Given the description of an element on the screen output the (x, y) to click on. 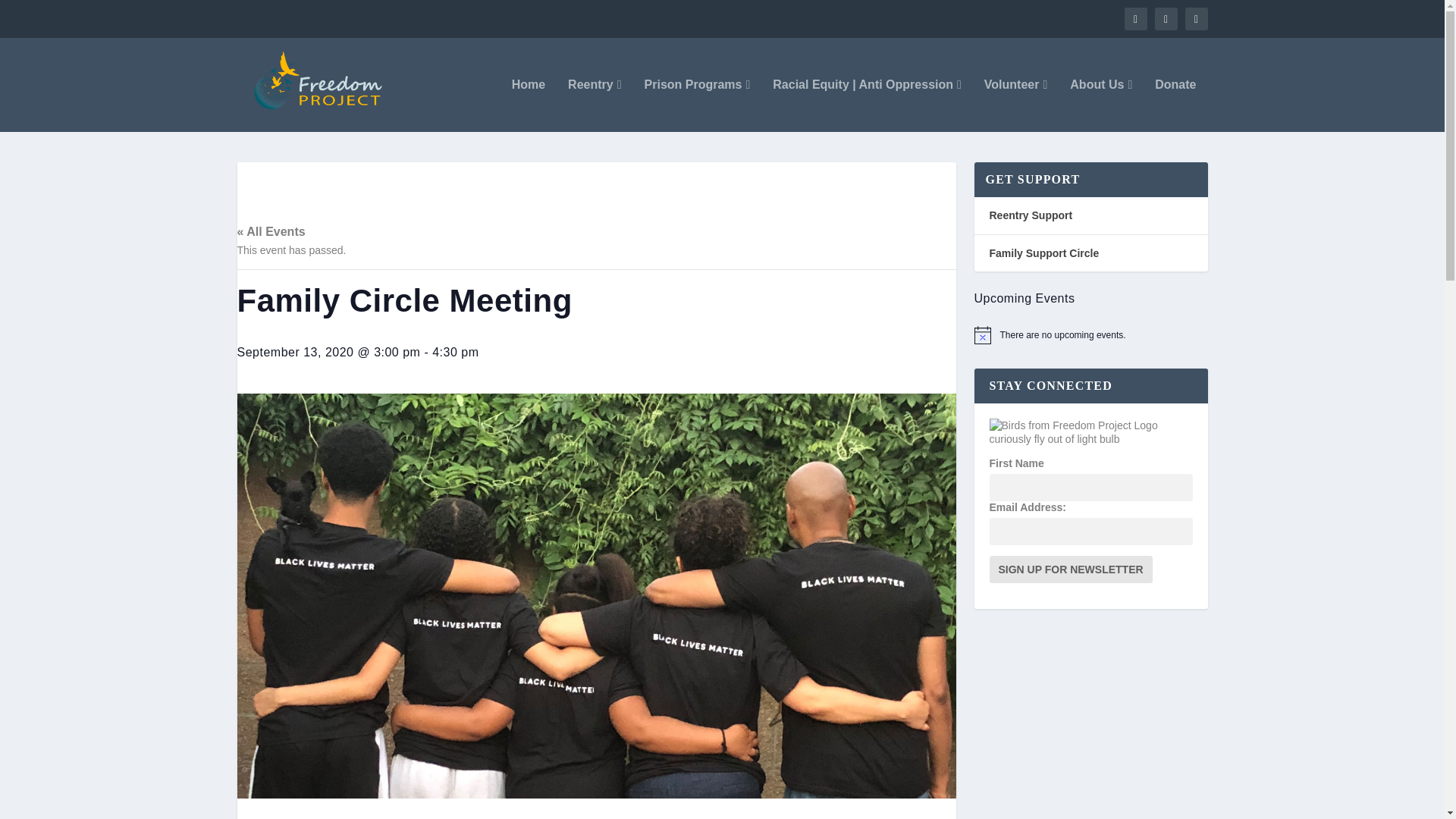
Prison Programs (698, 104)
Sign Up for Newsletter (1069, 569)
About Us (1101, 104)
Our Story (1101, 104)
Volunteer (1015, 104)
Reentry (594, 104)
